Given the description of an element on the screen output the (x, y) to click on. 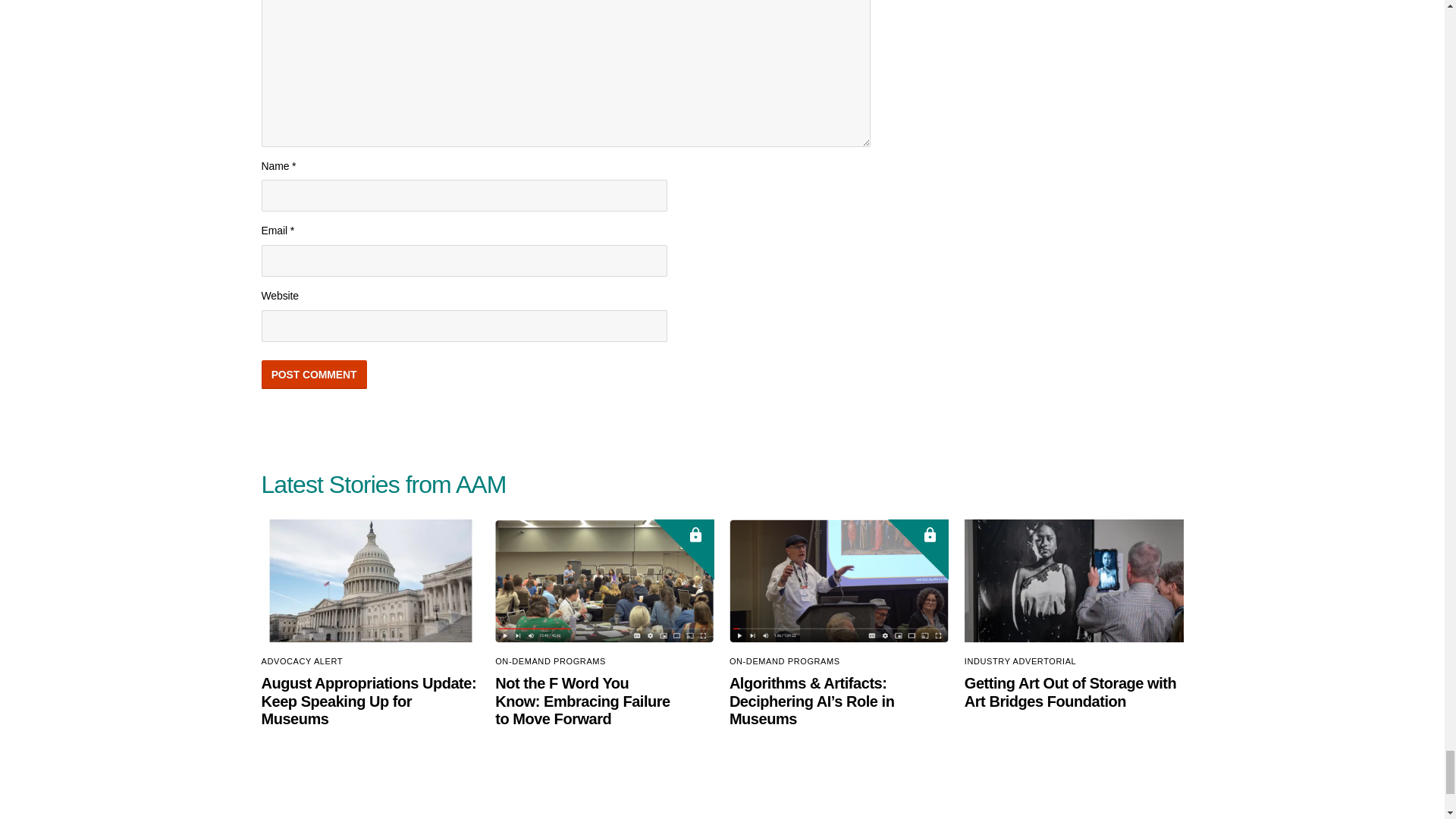
Post Comment (313, 374)
